Given the description of an element on the screen output the (x, y) to click on. 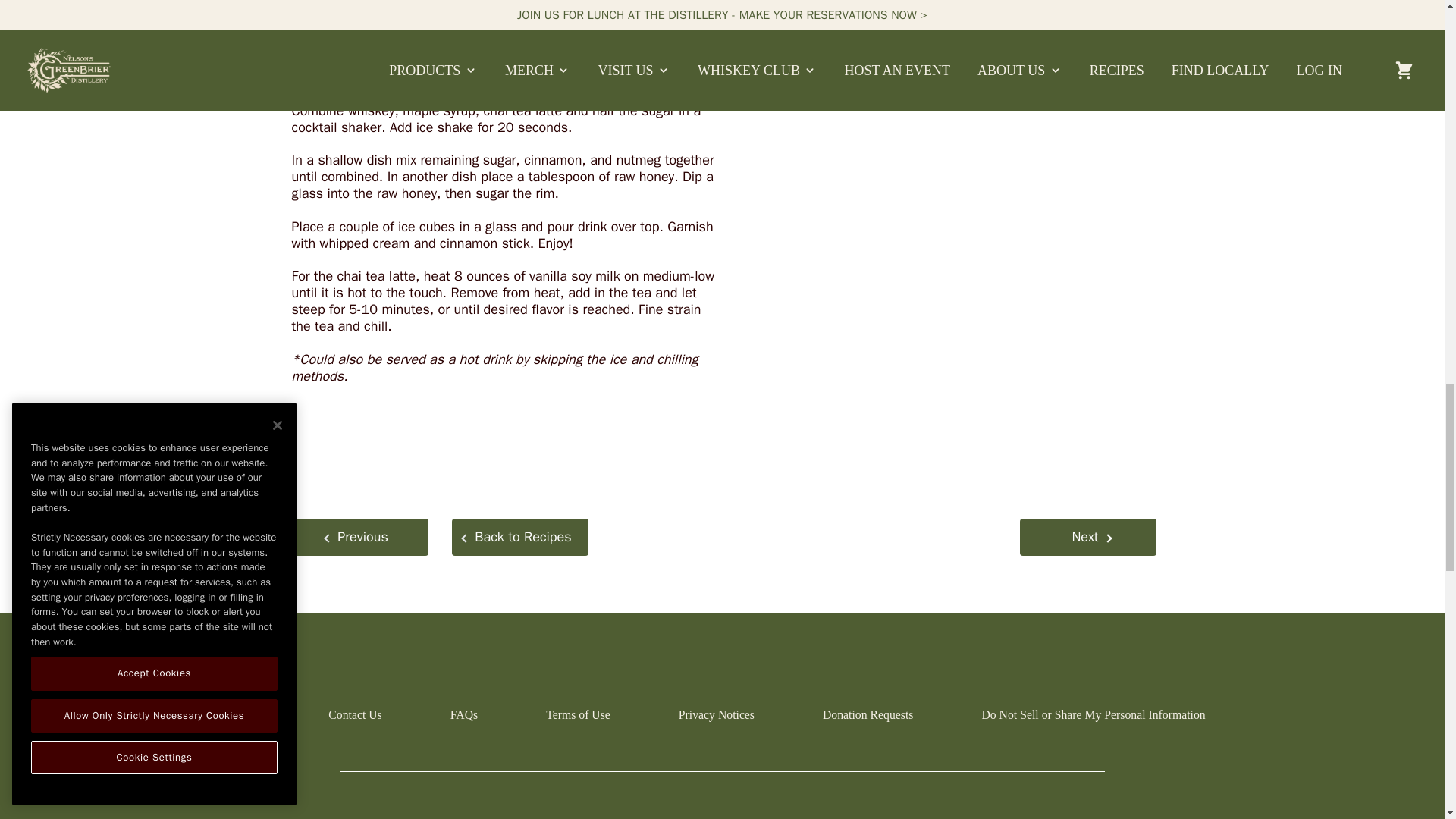
Do Not Sell or Share My Personal Information (1092, 714)
